Given the description of an element on the screen output the (x, y) to click on. 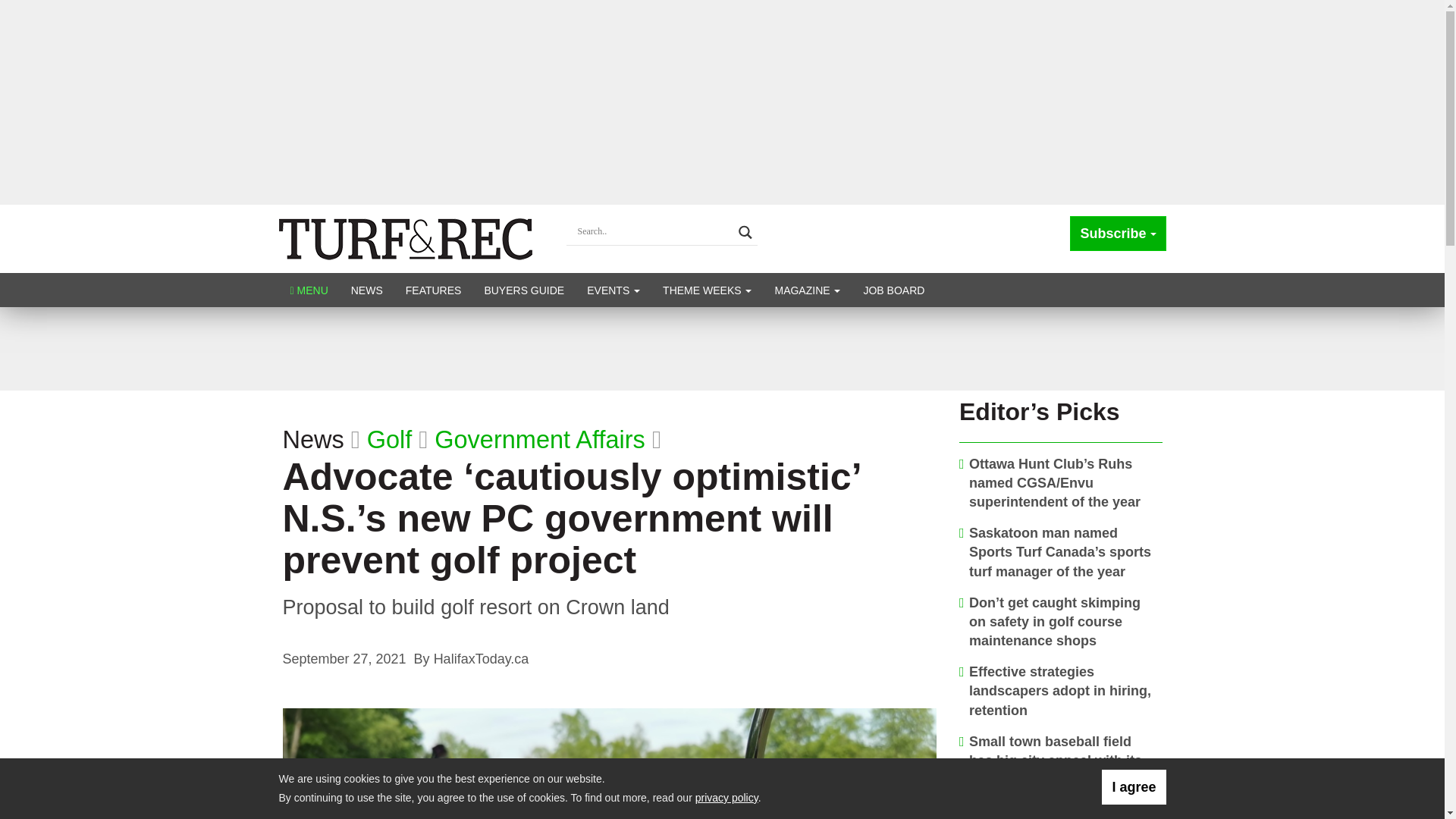
NEWS (366, 289)
3rd party ad content (721, 348)
Subscribe (1118, 233)
FEATURES (433, 289)
MENU (309, 289)
Click to show site navigation (309, 289)
BUYERS GUIDE (523, 289)
MAGAZINE (806, 289)
JOB BOARD (893, 289)
THEME WEEKS (706, 289)
EVENTS (612, 289)
